Given the description of an element on the screen output the (x, y) to click on. 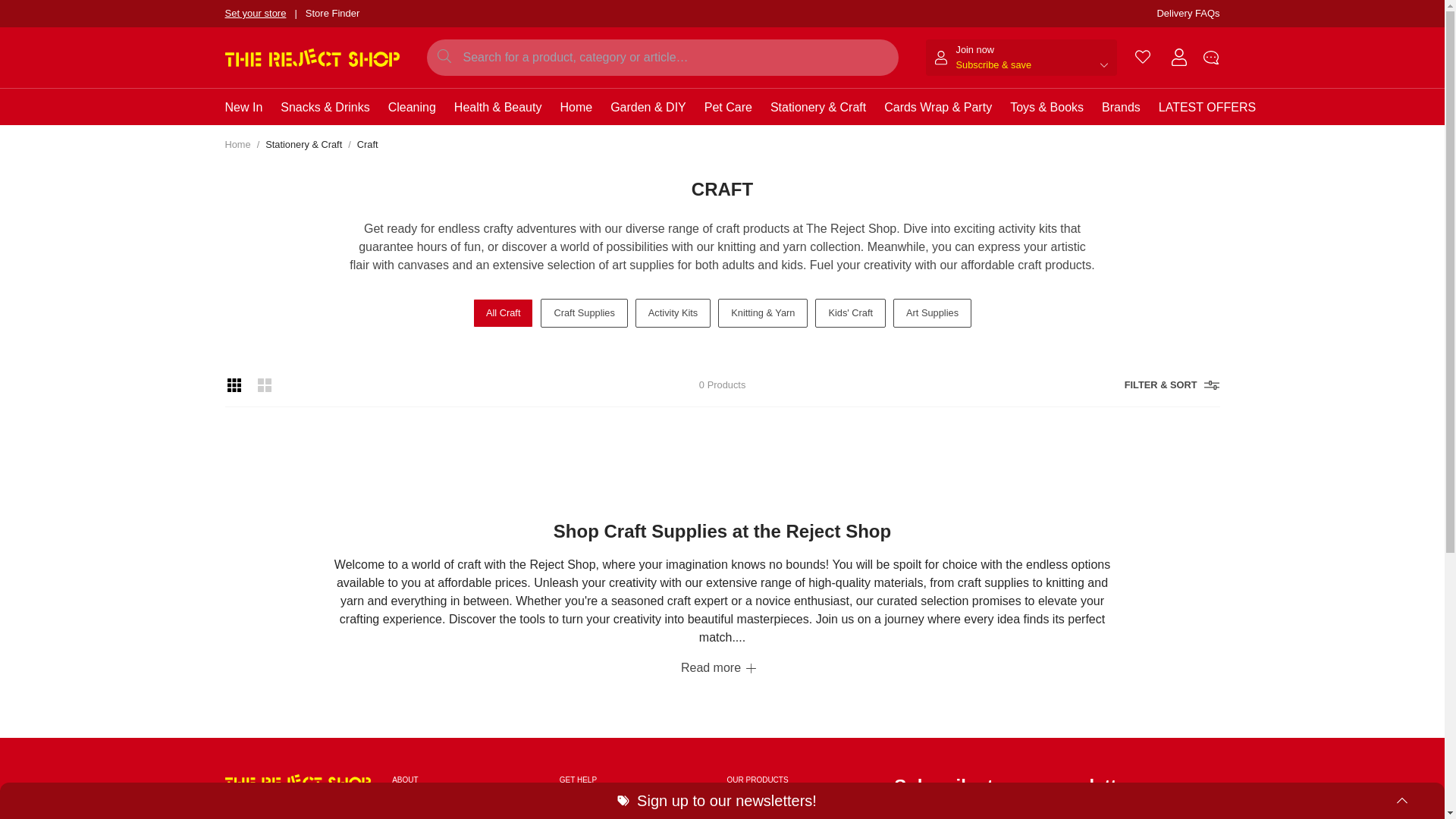
Home (237, 143)
Delivery FAQs (1188, 13)
Brands (1121, 106)
Read more (718, 668)
Craft Supplies (583, 312)
Kids' Craft (850, 312)
Store Finder (332, 13)
Pet Care (728, 106)
LATEST OFFERS (1206, 106)
Cleaning (411, 106)
Activity Kits (672, 312)
All Craft (503, 312)
Art Supplies (932, 312)
Set your store (254, 13)
New In (243, 106)
